Given the description of an element on the screen output the (x, y) to click on. 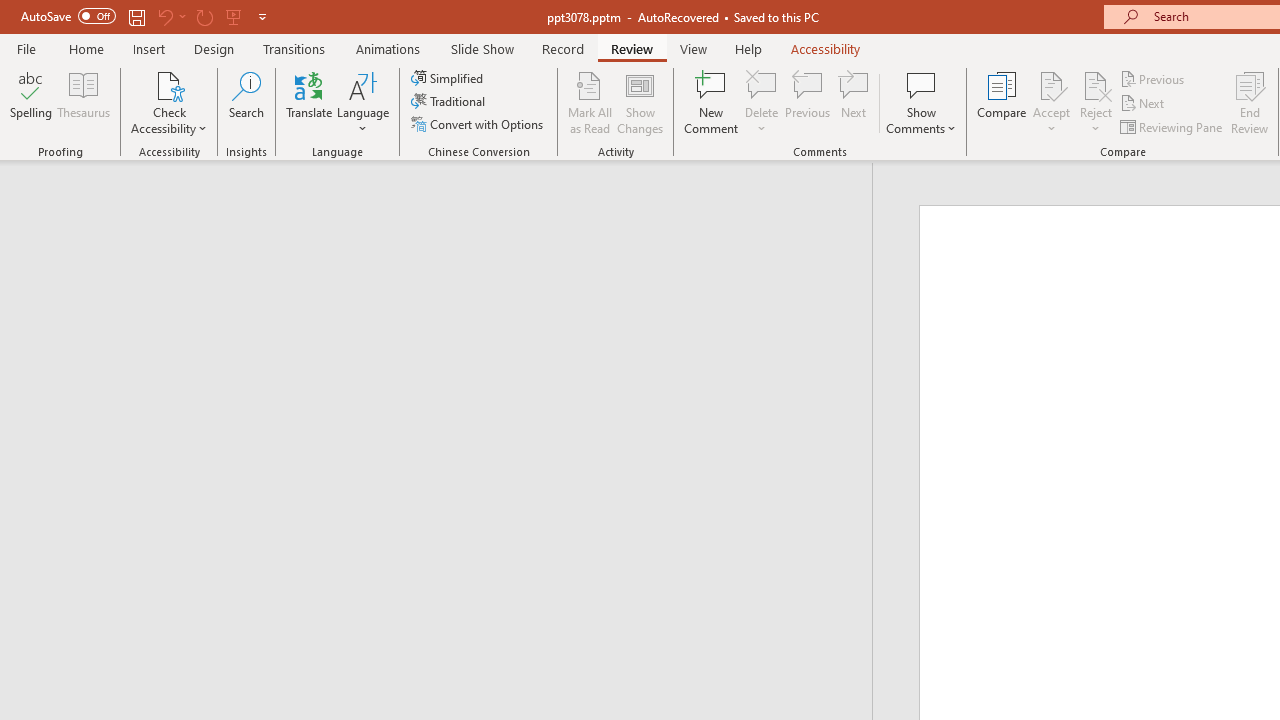
Thesaurus... (83, 102)
Check Accessibility (169, 84)
Simplified (449, 78)
New Comment (711, 102)
Compare (1002, 102)
Convert with Options... (479, 124)
Delete (762, 102)
Reject Change (1096, 84)
